Given the description of an element on the screen output the (x, y) to click on. 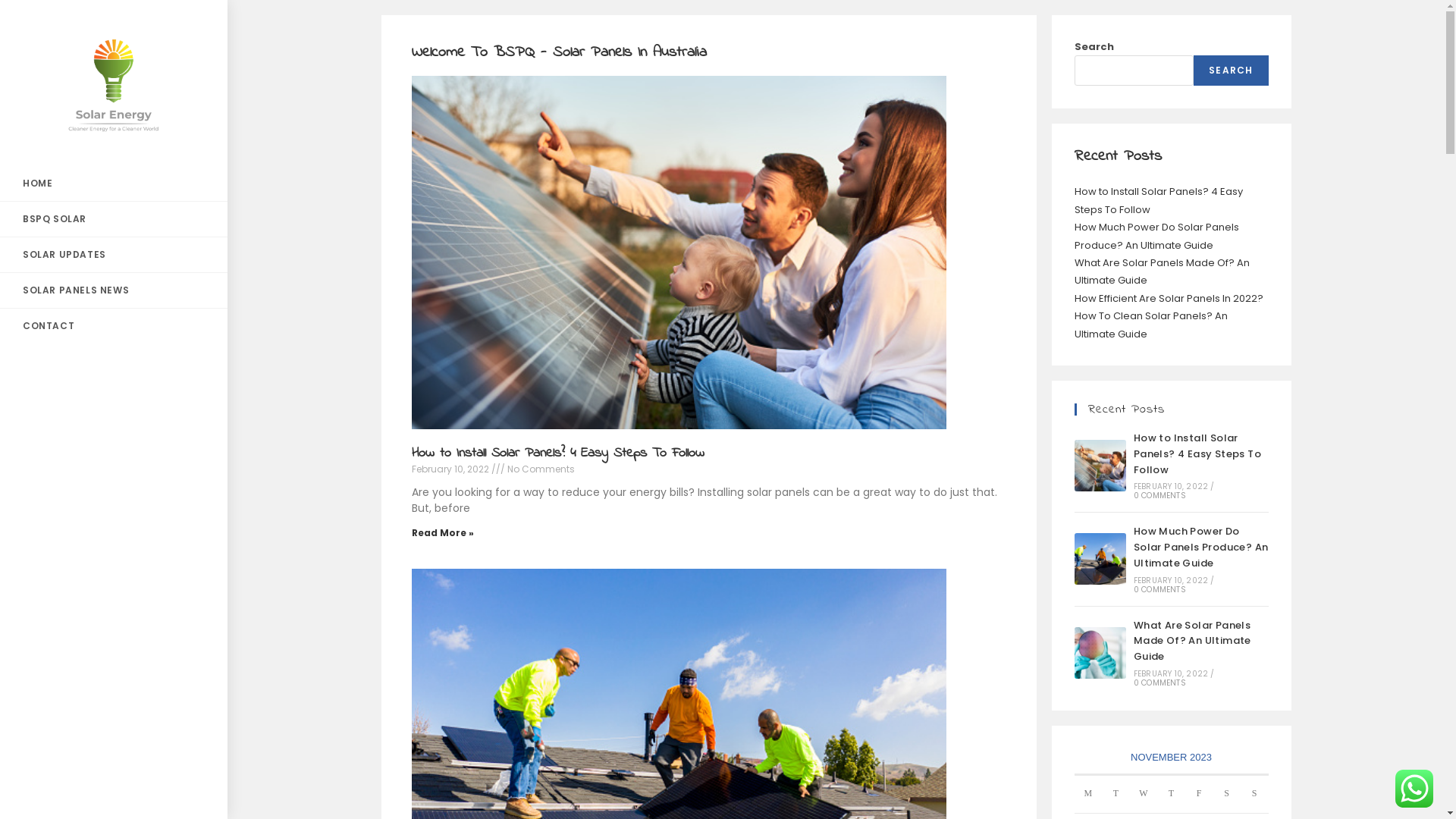
0 COMMENTS Element type: text (1159, 495)
How Much Power Do Solar Panels Produce? An Ultimate Guide Element type: hover (1099, 558)
How Efficient Are Solar Panels In 2022? Element type: text (1167, 298)
What Are Solar Panels Made Of? An Ultimate Guide Element type: text (1192, 641)
How to Install Solar Panels? 4 Easy Steps To Follow Element type: text (557, 453)
What Are Solar Panels Made Of? An Ultimate Guide Element type: hover (1099, 652)
HOME Element type: text (113, 183)
SEARCH Element type: text (1230, 70)
How Much Power Do Solar Panels Produce? An Ultimate Guide Element type: text (1155, 235)
SOLAR UPDATES Element type: text (113, 254)
BSPQ SOLAR Element type: text (113, 218)
How to Install Solar Panels? 4 Easy Steps To Follow Element type: hover (1099, 465)
How To Clean Solar Panels? An Ultimate Guide Element type: text (1149, 324)
SOLAR PANELS NEWS Element type: text (113, 290)
0 COMMENTS Element type: text (1159, 682)
How to Install Solar Panels? 4 Easy Steps To Follow Element type: text (1197, 453)
How to Install Solar Panels? 4 Easy Steps To Follow Element type: text (1157, 200)
0 COMMENTS Element type: text (1159, 589)
CONTACT Element type: text (113, 325)
Home 34 Element type: hover (673, 249)
How Much Power Do Solar Panels Produce? An Ultimate Guide Element type: text (1200, 547)
What Are Solar Panels Made Of? An Ultimate Guide Element type: text (1160, 271)
